Given the description of an element on the screen output the (x, y) to click on. 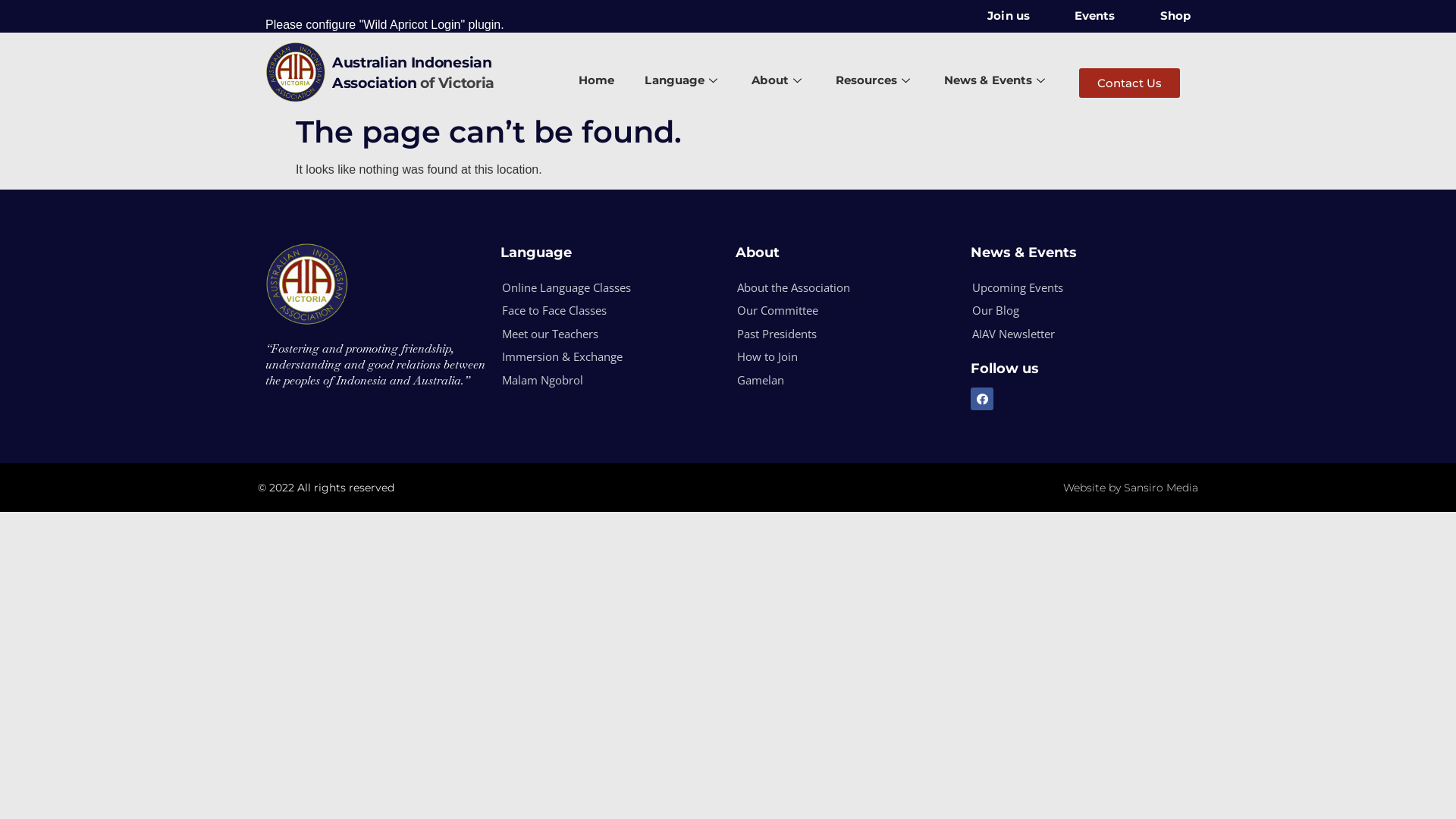
Contact Us Element type: text (1129, 82)
News & Events Element type: text (995, 80)
Resources Element type: text (874, 80)
About Element type: text (778, 80)
Shop Element type: text (1164, 16)
About the Association Element type: text (835, 288)
Face to Face Classes Element type: text (600, 310)
Upcoming Events Element type: text (1070, 288)
Join us Element type: text (997, 16)
Meet our Teachers Element type: text (600, 334)
Our Committee Element type: text (835, 310)
Past Presidents Element type: text (835, 334)
AIAV Newsletter Element type: text (1070, 334)
Language Element type: text (682, 80)
Online Language Classes Element type: text (600, 288)
Malam Ngobrol Element type: text (600, 380)
Home Element type: text (596, 80)
How to Join Element type: text (835, 357)
Immersion & Exchange Element type: text (600, 357)
Gamelan Element type: text (835, 380)
Sansiro Media Element type: text (1160, 487)
Australian Indonesian
Association of Victoria Element type: text (413, 72)
Our Blog Element type: text (1070, 310)
Events Element type: text (1084, 16)
